Given the description of an element on the screen output the (x, y) to click on. 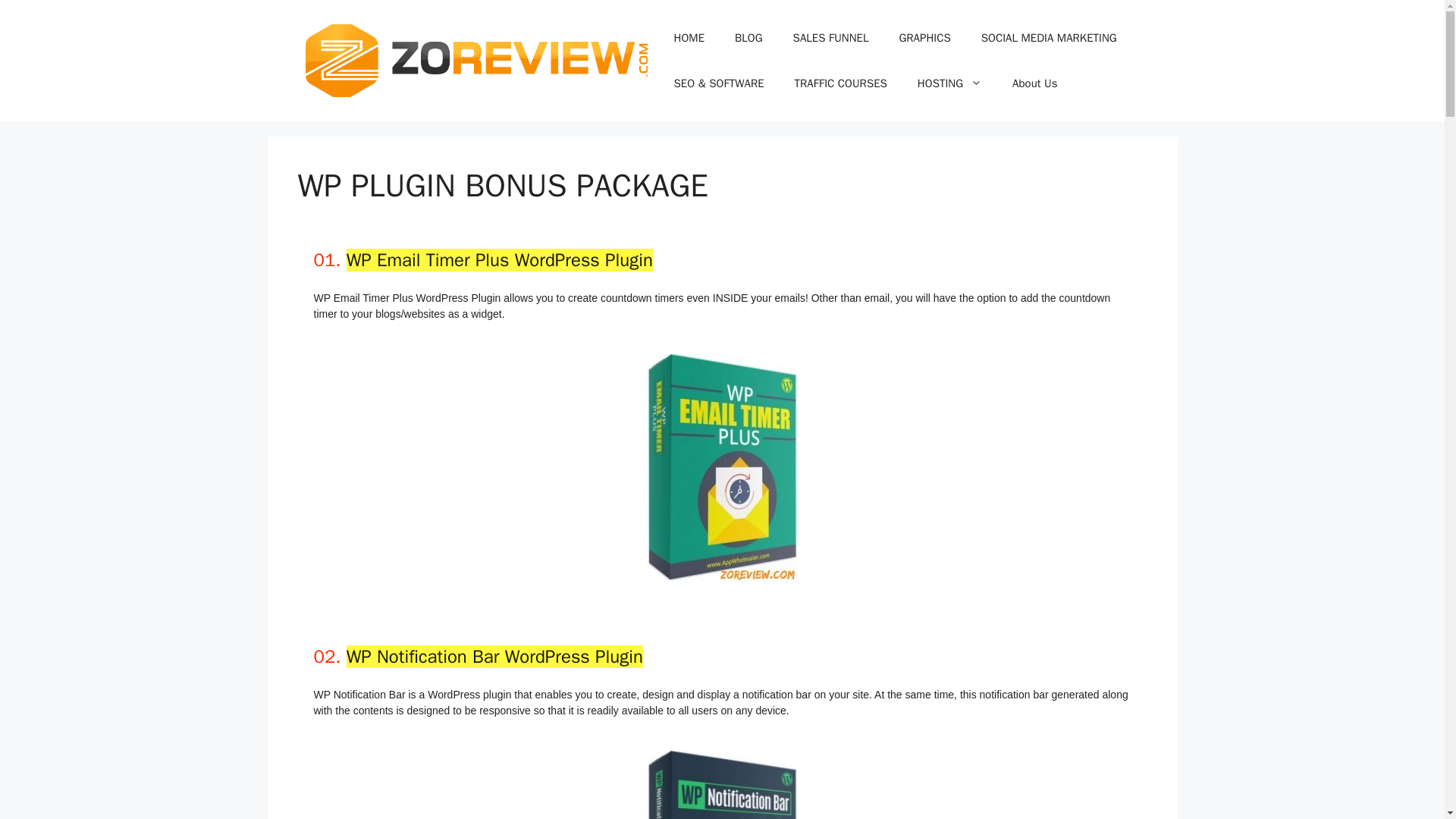
GRAPHICS (924, 37)
TRAFFIC COURSES (840, 83)
About Us (1034, 83)
SALES FUNNEL (830, 37)
HOSTING (949, 83)
HOME (689, 37)
SOCIAL MEDIA MARKETING (1049, 37)
BLOG (748, 37)
zoreview.WP Notification Bar WordPress Plugin (721, 785)
